Given the description of an element on the screen output the (x, y) to click on. 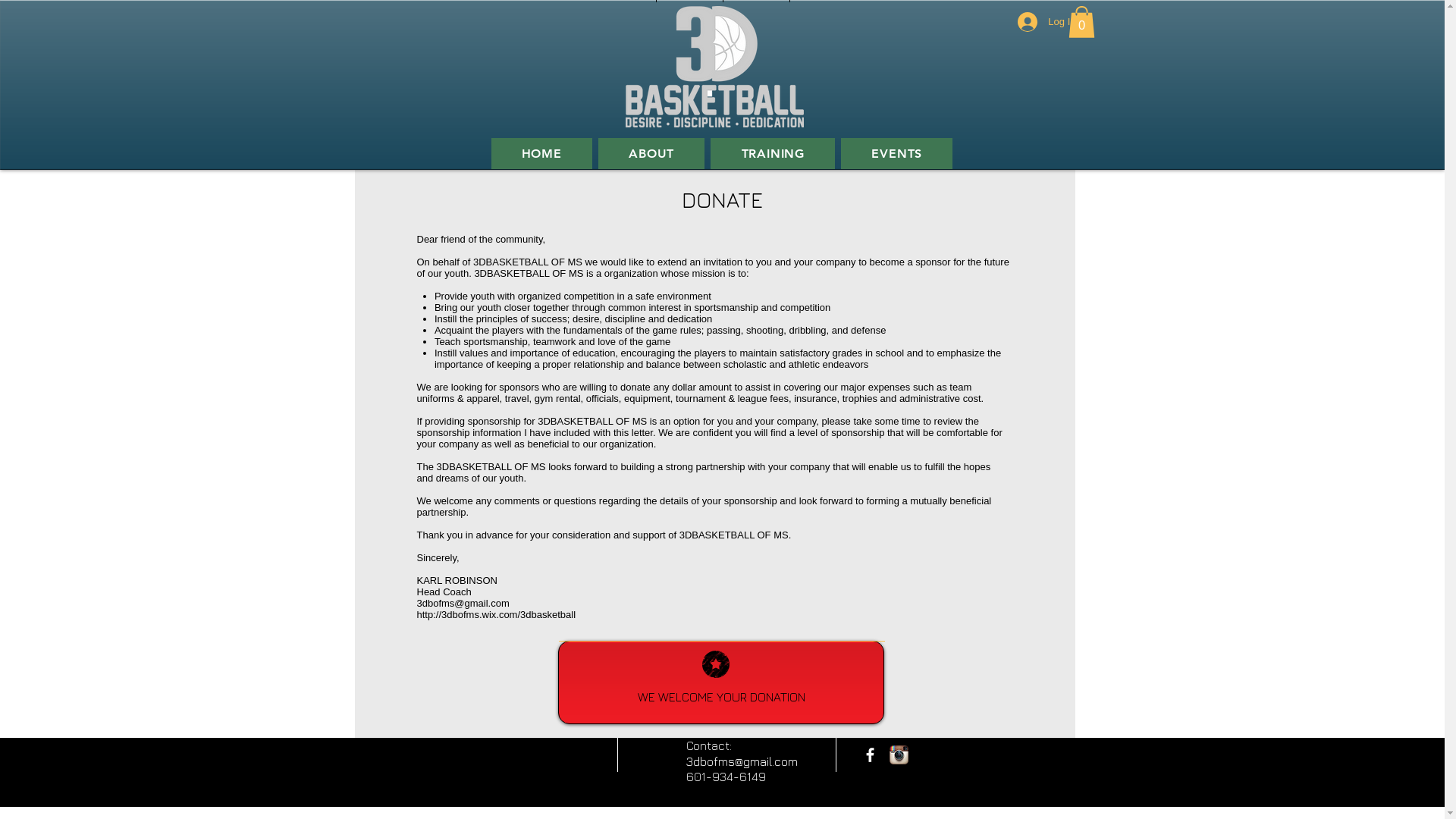
EVENTS Element type: text (896, 153)
Log In Element type: text (1046, 21)
TRAINING Element type: text (772, 153)
3dbofms@gmail.com Element type: text (463, 602)
Embedded Content Element type: hover (733, 619)
ABOUT Element type: text (651, 153)
3dbofms@gmail.com Element type: text (741, 761)
http://3dbofms.wix.com/3dbasketball Element type: text (496, 614)
HOME Element type: text (542, 153)
0 Element type: text (1080, 21)
